Given the description of an element on the screen output the (x, y) to click on. 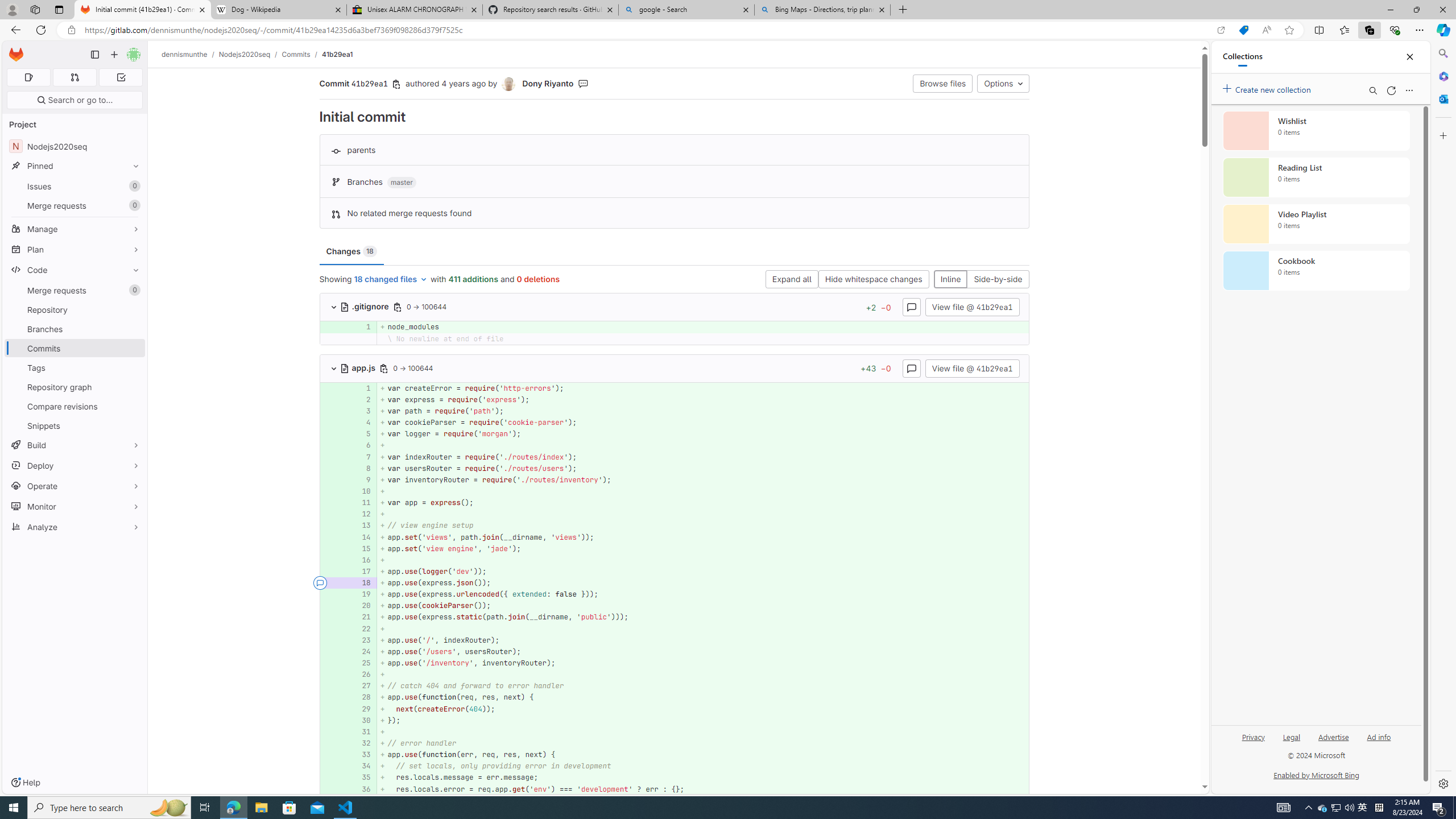
Legal (1292, 741)
Toggle comments for this file (911, 367)
21 (360, 617)
Pin Repository (132, 309)
Side-by-side (997, 279)
AutomationID: 4a68969ef8e858229267b842dedf42ab5dde4d50_0_5 (674, 434)
AutomationID: 4a68969ef8e858229267b842dedf42ab5dde4d50_0_8 (674, 468)
16 (362, 559)
14 (360, 536)
AutomationID: 4a68969ef8e858229267b842dedf42ab5dde4d50_0_9 (674, 479)
Add a comment to this line (320, 789)
+ var usersRouter = require('./routes/users');  (703, 468)
Issues0 (74, 185)
Tags (74, 367)
AutomationID: 4a68969ef8e858229267b842dedf42ab5dde4d50_0_31 (674, 731)
